Given the description of an element on the screen output the (x, y) to click on. 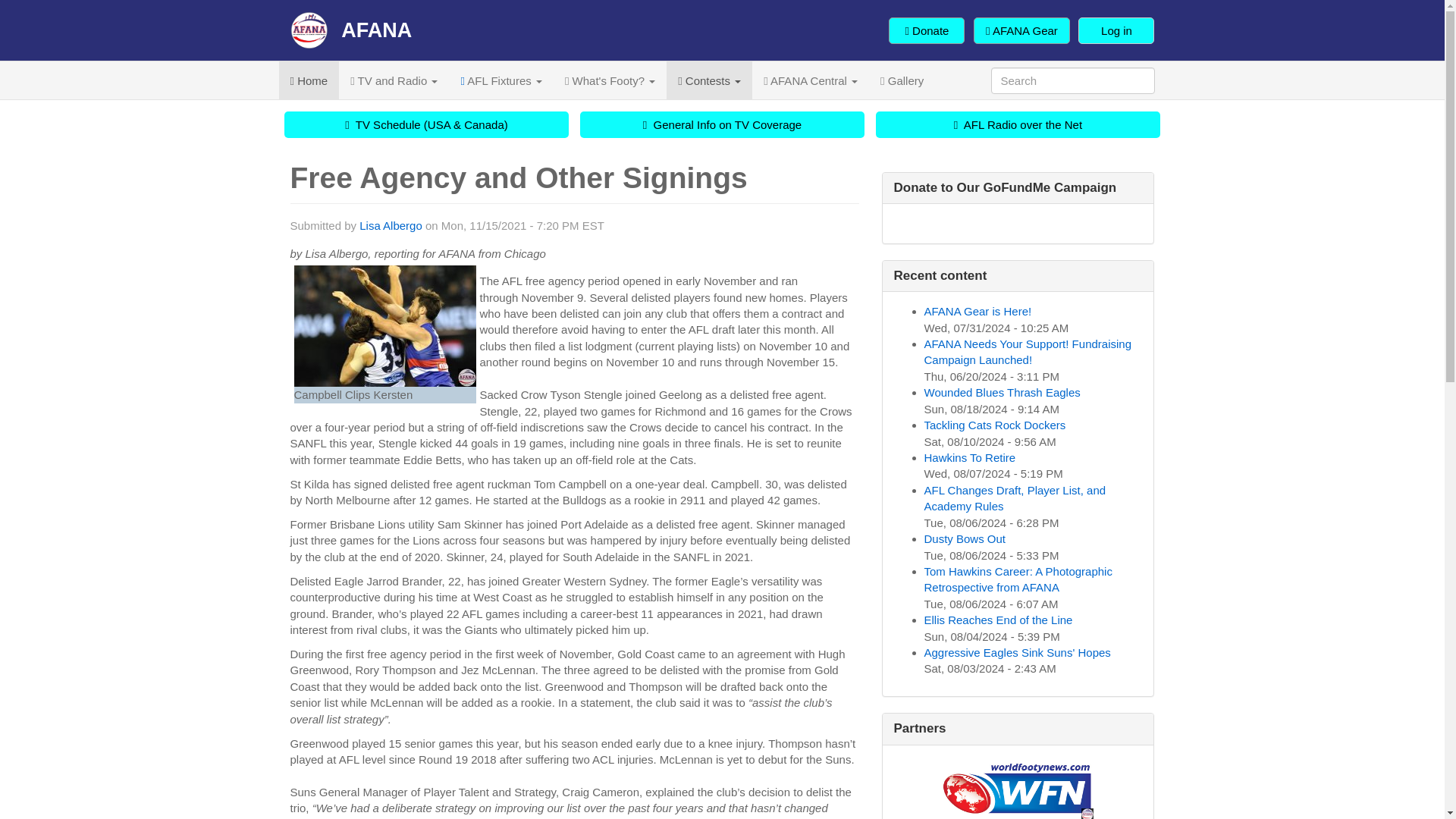
AFANA (350, 30)
What's Footy? (609, 80)
Home (350, 30)
AFANA Gear (1022, 29)
TV and Radio (393, 80)
Home (309, 80)
Aussie Rules News and Content (309, 80)
Donate (925, 29)
Log in (1116, 29)
